Given the description of an element on the screen output the (x, y) to click on. 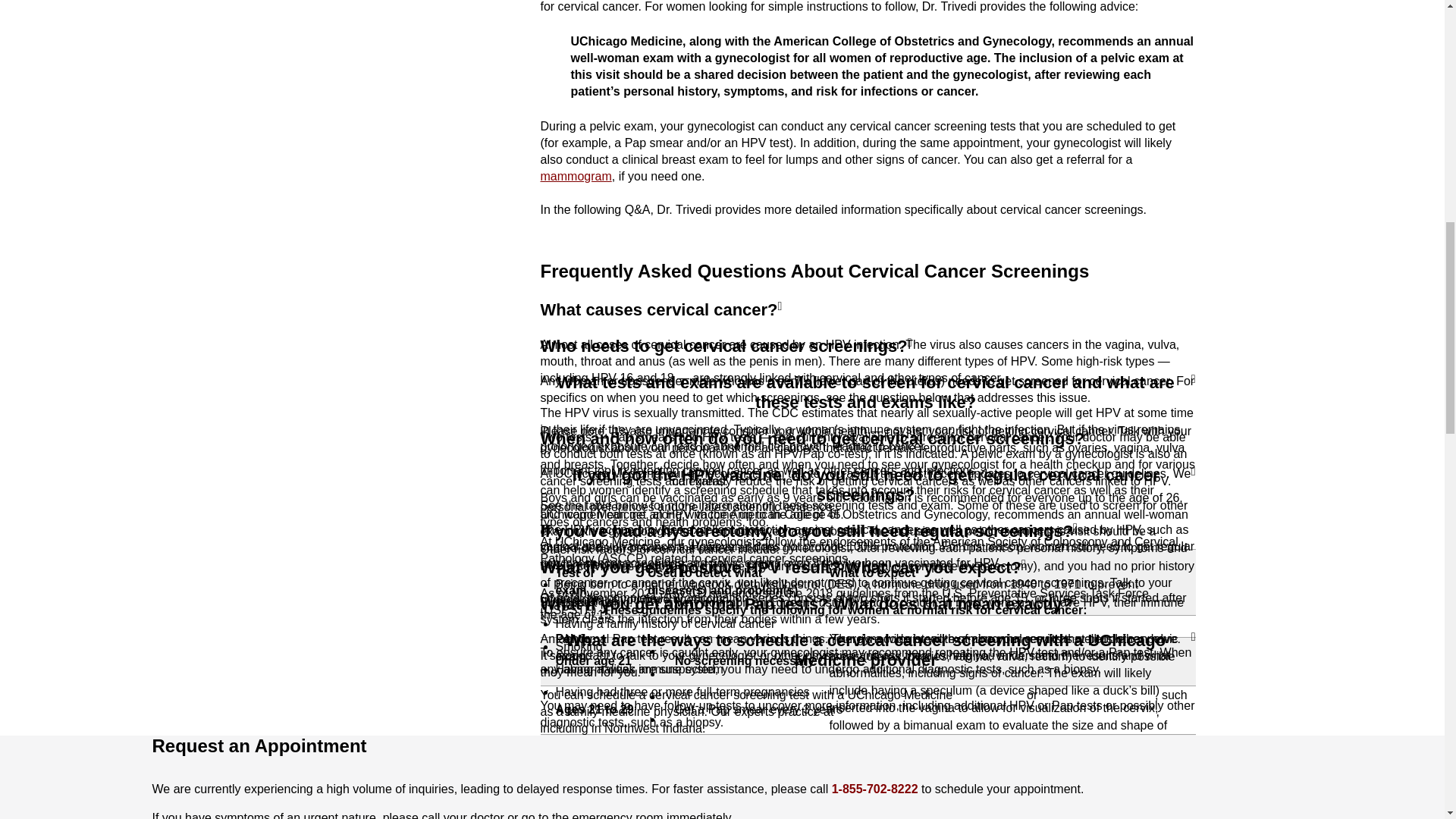
mammogram (575, 175)
What causes cervical cancer? (660, 318)
Who needs to get cervical cancer screenings? (725, 354)
